Given the description of an element on the screen output the (x, y) to click on. 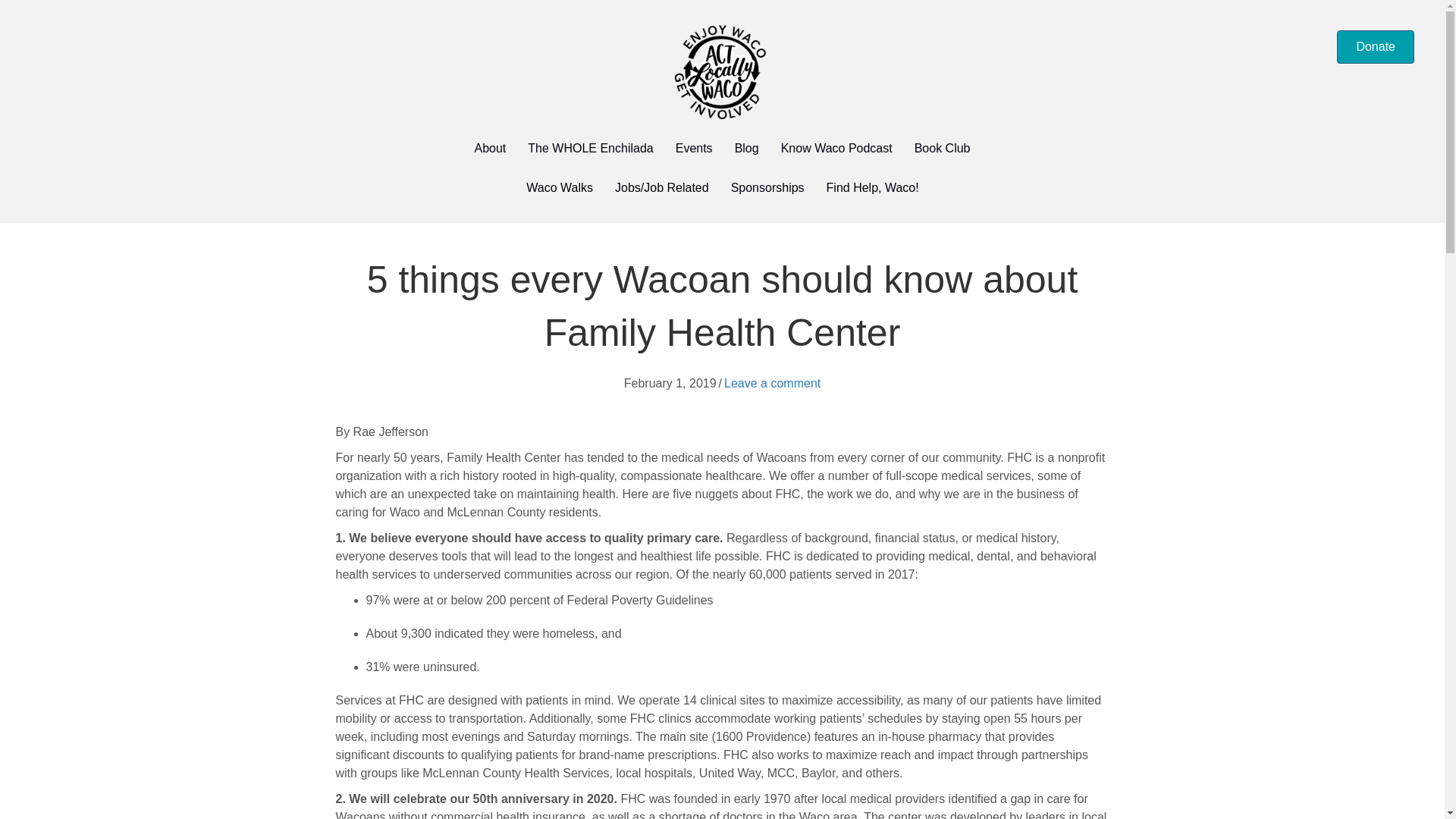
Leave a comment (772, 382)
Sponsorships (767, 188)
Waco Walks (559, 188)
Book Club (942, 148)
Donate (1374, 46)
Events (694, 148)
Find Help, Waco! (872, 188)
Know Waco Podcast (836, 148)
Blog (746, 148)
About (489, 148)
